Given the description of an element on the screen output the (x, y) to click on. 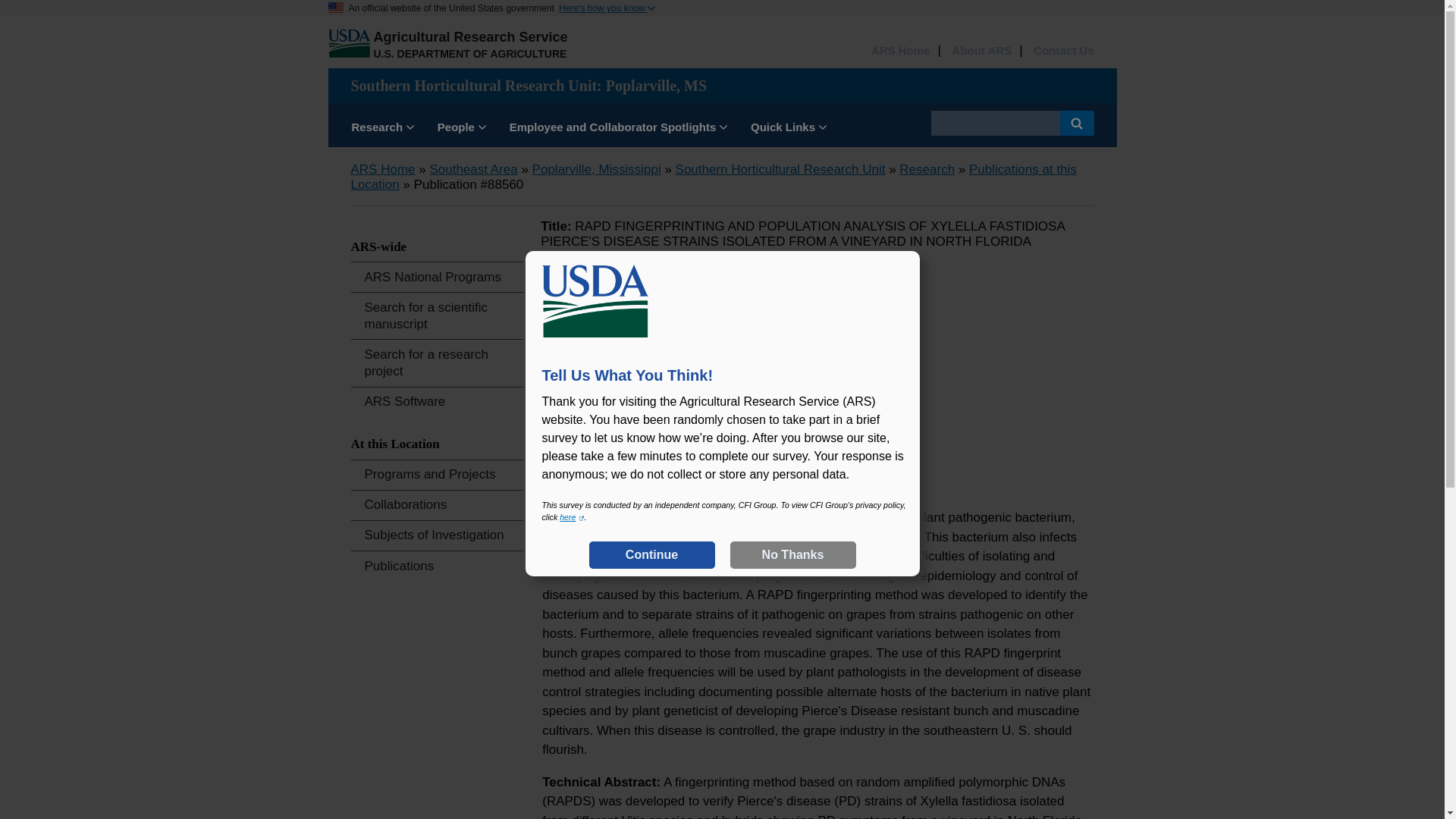
Email Address (659, 495)
Contact Us (1063, 50)
No Thanks (792, 554)
Continue (651, 554)
About ARS (981, 50)
Publications at this Location (712, 176)
Research (927, 169)
ARS Home (382, 169)
Close subscription dialog (877, 328)
Quick Links (788, 128)
ARS Home (900, 50)
Southern Horticultural Research Unit (780, 169)
Employee and Collaborator Spotlights (618, 128)
search (995, 122)
Privacy Policy (571, 516)
